Given the description of an element on the screen output the (x, y) to click on. 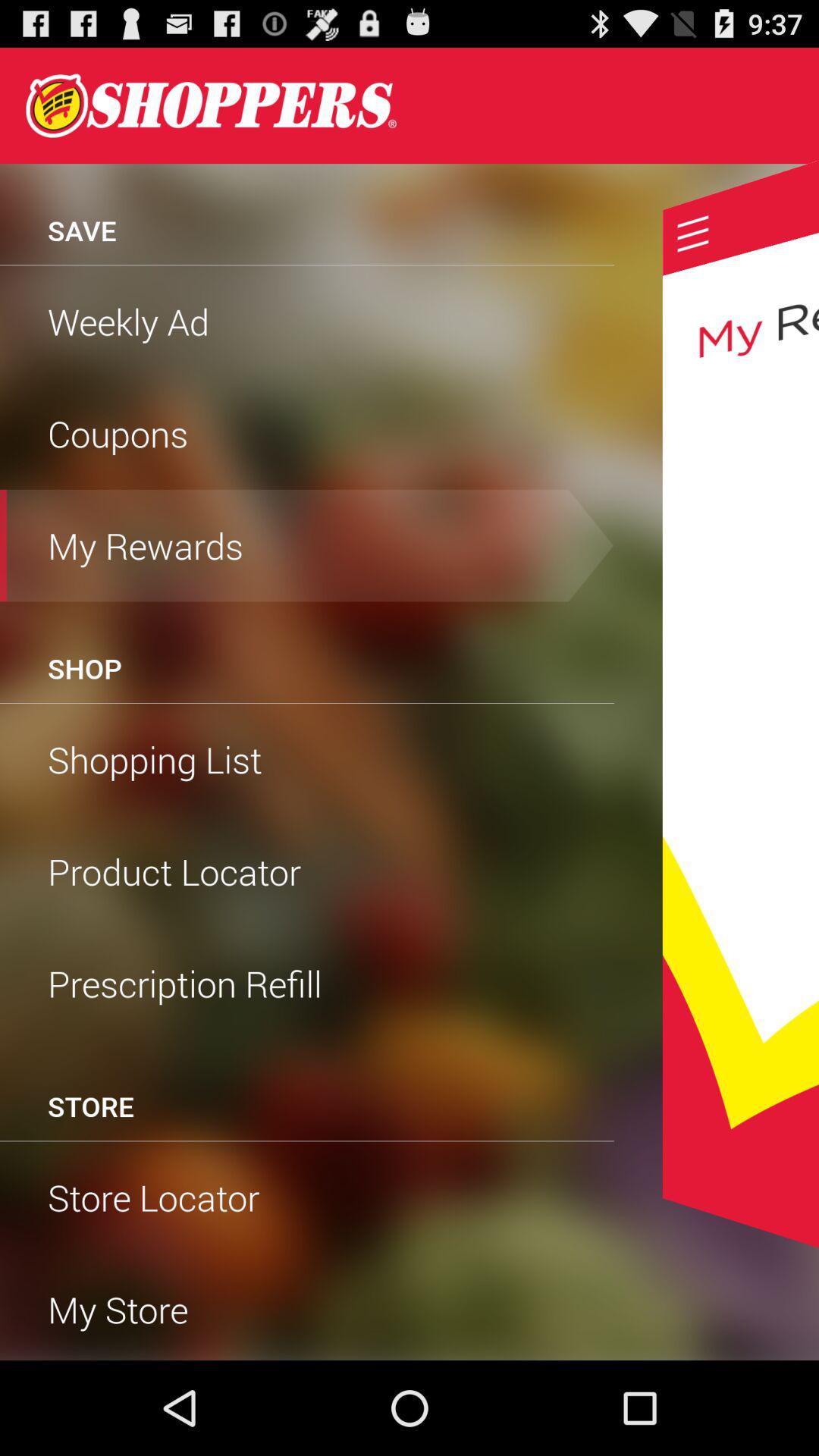
see my rewards (740, 703)
